Given the description of an element on the screen output the (x, y) to click on. 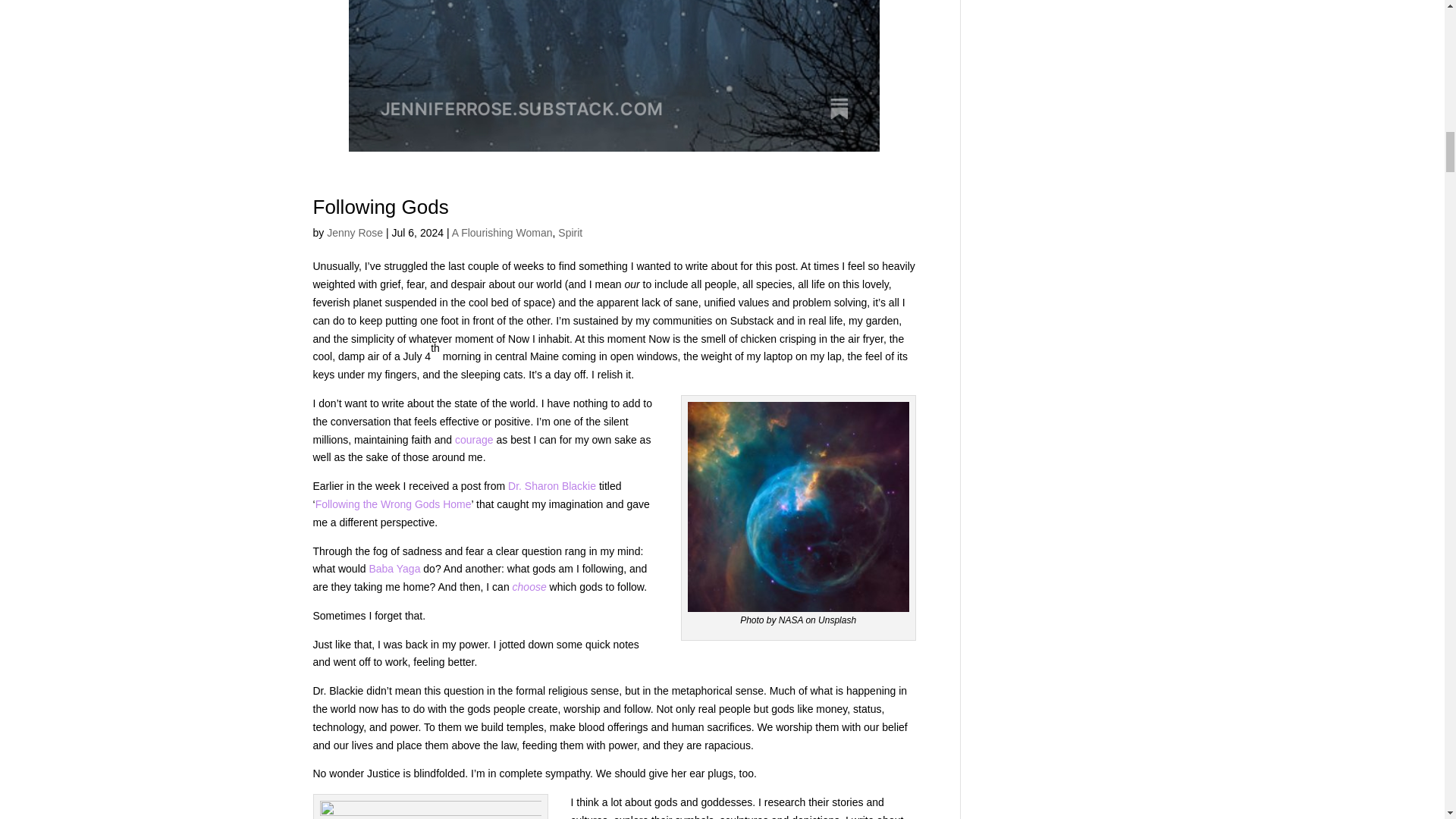
Posts by Jenny Rose (354, 232)
